Given the description of an element on the screen output the (x, y) to click on. 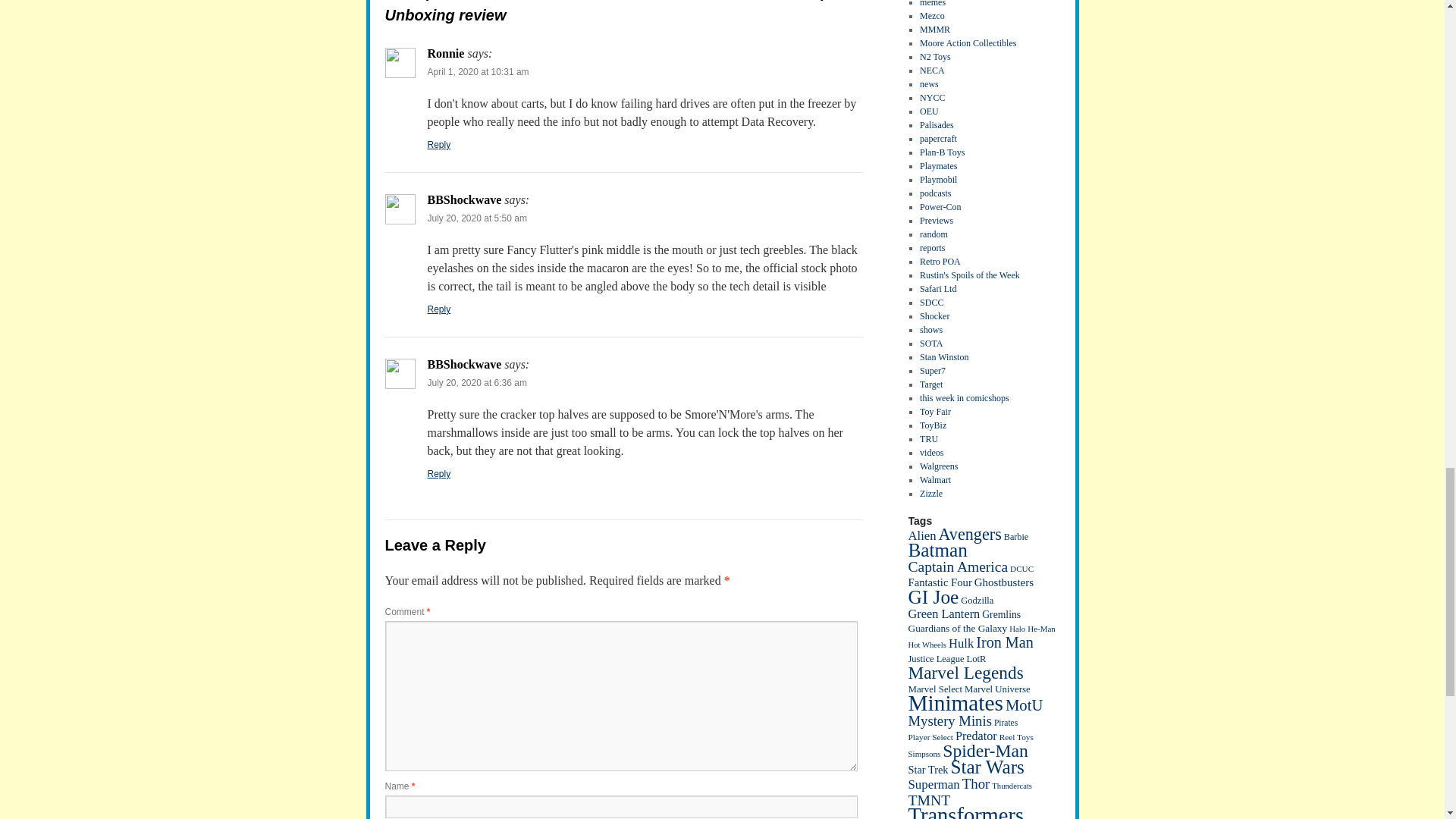
April 1, 2020 at 10:31 am (478, 71)
Reply (439, 308)
July 20, 2020 at 6:36 am (477, 382)
July 20, 2020 at 5:50 am (477, 217)
Reply (439, 473)
Reply (439, 144)
